Given the description of an element on the screen output the (x, y) to click on. 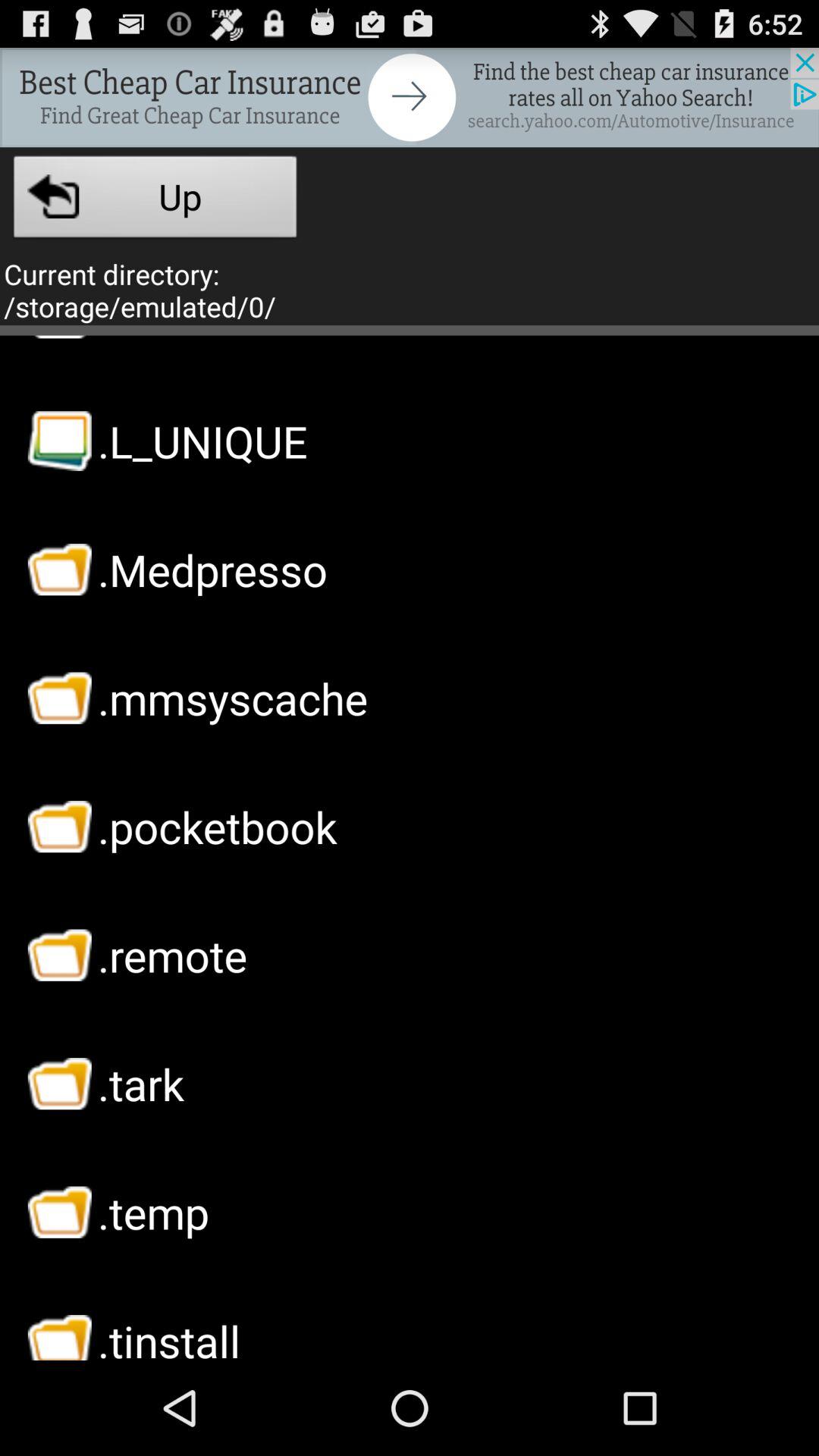
sponsored content (409, 97)
